Given the description of an element on the screen output the (x, y) to click on. 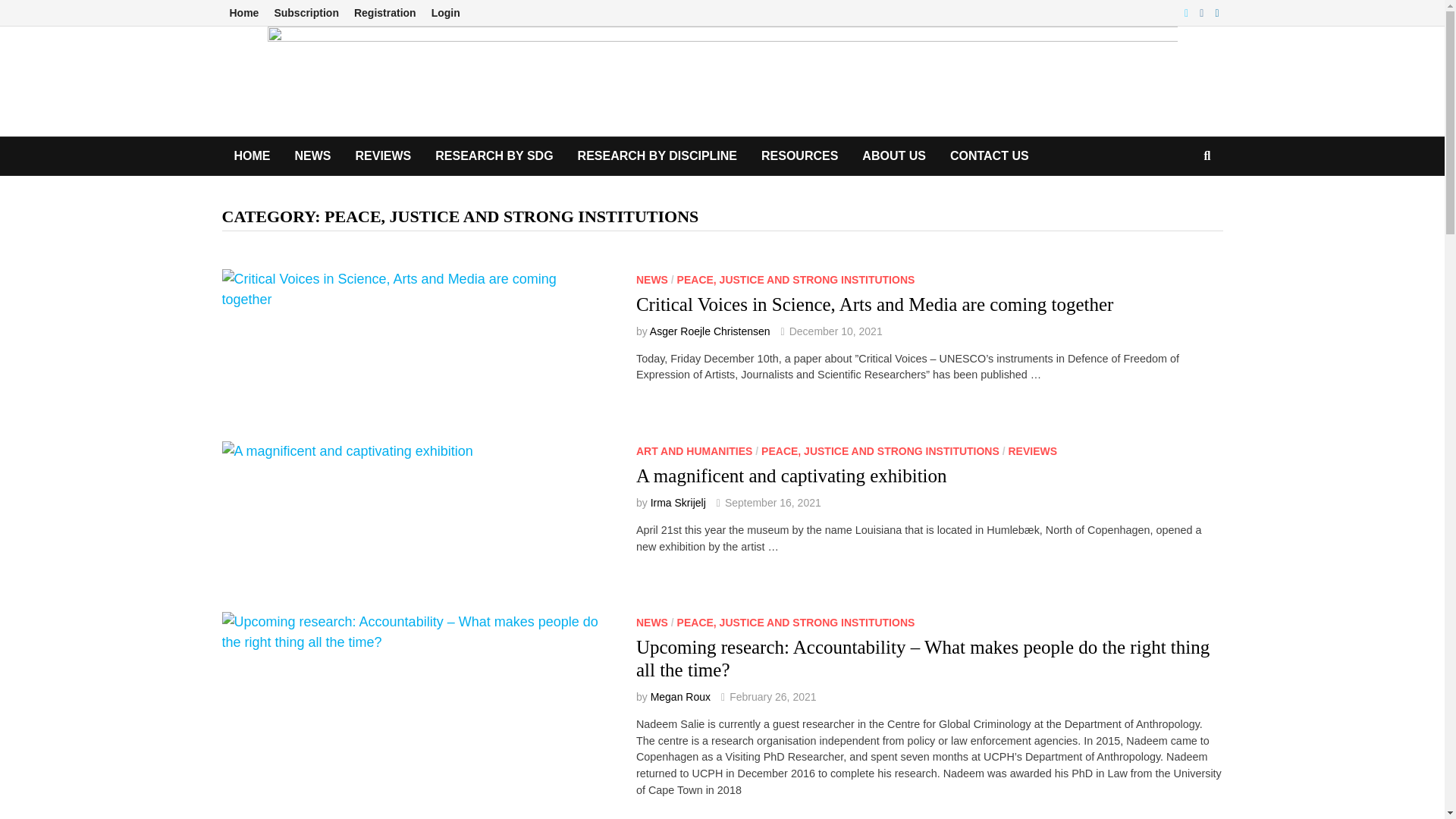
NEWS (652, 279)
A magnificent and captivating exhibition (791, 476)
Asger Roejle Christensen (709, 331)
REVIEWS (382, 156)
RESOURCES (799, 156)
ART AND HUMANITIES (694, 451)
RESEARCH BY SDG (493, 156)
Subscription (306, 13)
NEWS (312, 156)
Login (445, 13)
CONTACT US (989, 156)
HOME (251, 156)
Home (243, 13)
RESEARCH BY DISCIPLINE (657, 156)
